Given the description of an element on the screen output the (x, y) to click on. 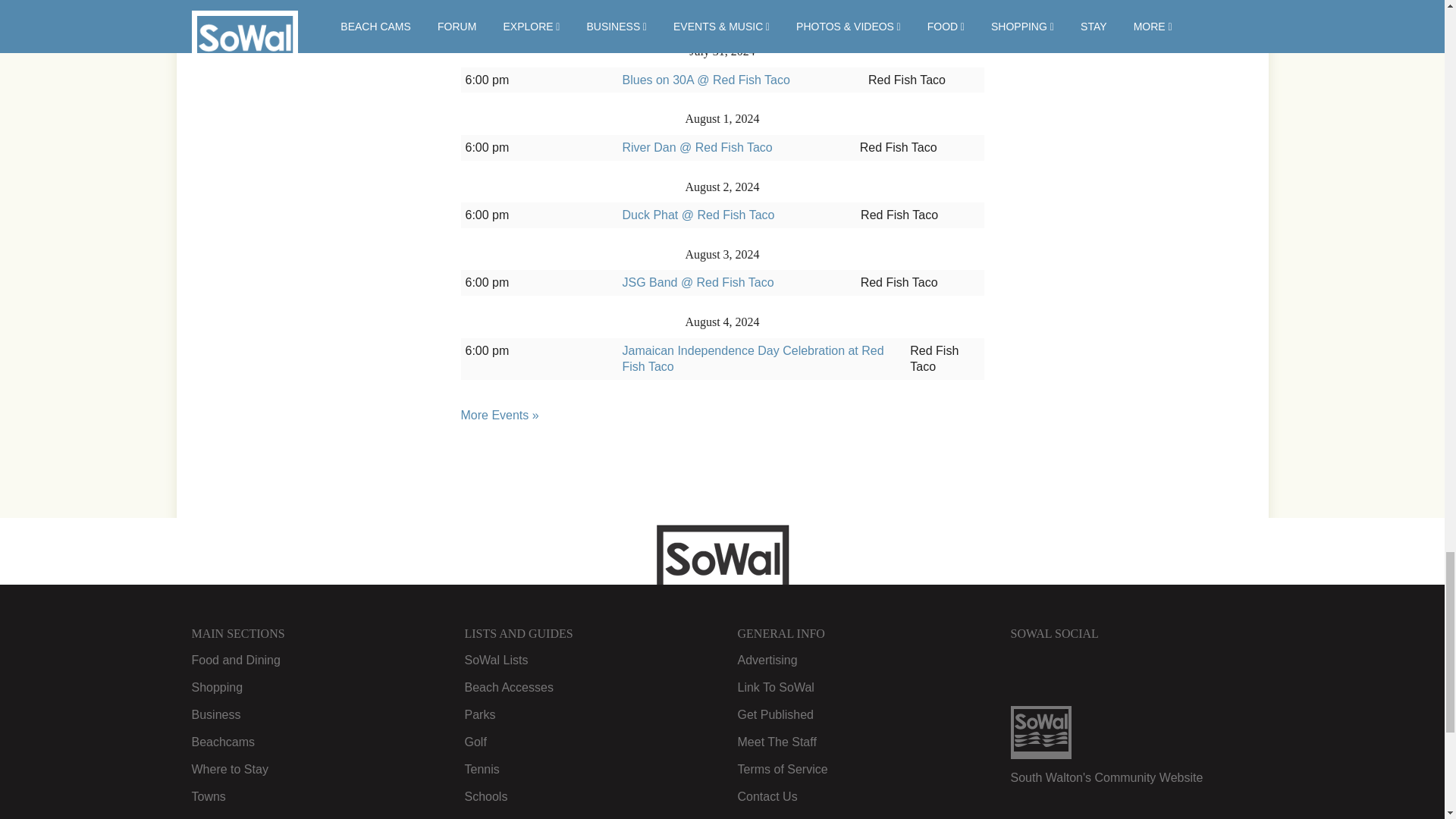
events page (499, 414)
